Given the description of an element on the screen output the (x, y) to click on. 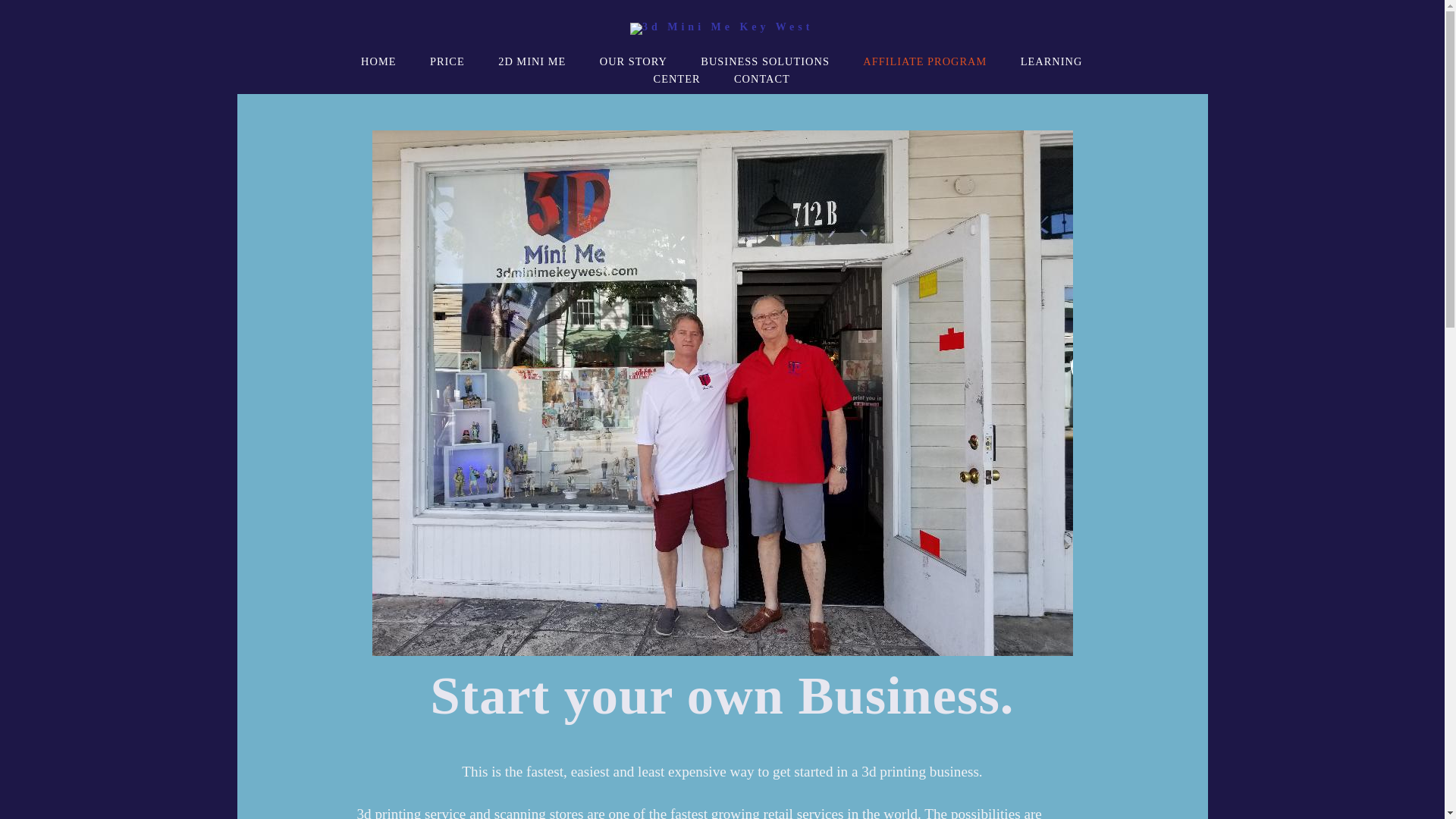
BUSINESS SOLUTIONS Element type: text (764, 61)
PRICE Element type: text (446, 61)
CONTACT Element type: text (762, 78)
2D MINI ME Element type: text (531, 61)
HOME Element type: text (377, 61)
AFFILIATE PROGRAM Element type: text (924, 61)
LEARNING CENTER Element type: text (867, 69)
OUR STORY Element type: text (633, 61)
